Given the description of an element on the screen output the (x, y) to click on. 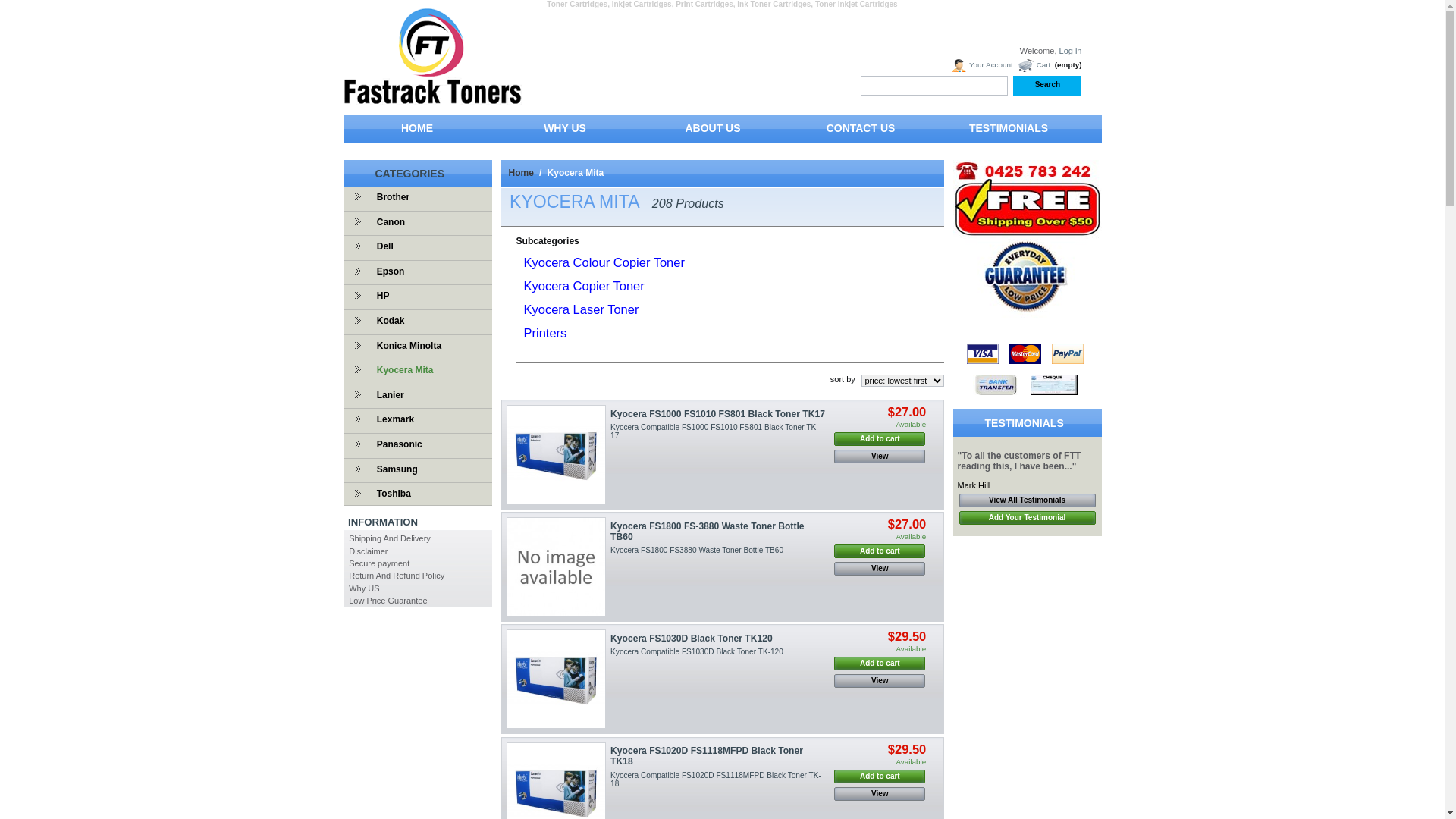
Kyocera Mita Element type: text (401, 369)
Add Your Testimonial Element type: text (1026, 517)
Kyocera FS1800 FS-3880 Waste Toner Bottle TB60 Element type: text (706, 531)
Add to cart Element type: text (879, 776)
View Element type: text (879, 456)
Search Element type: text (1047, 85)
Kyocera FS1800 FS-3880 Waste Toner Bottle TB60 Element type: hover (555, 566)
Why US Element type: text (363, 588)
Konica Minolta Element type: text (405, 345)
Epson Element type: text (386, 271)
TESTIMONIALS Element type: text (1008, 131)
Canon Element type: text (386, 221)
Add to cart Element type: text (879, 551)
Kyocera FS1000 FS1010 FS801 Black Toner TK17 Element type: text (717, 413)
Samsung Element type: text (393, 469)
Kyocera Laser Toner Element type: text (580, 309)
WHY US Element type: text (565, 131)
Toshiba Element type: text (390, 493)
Kyocera FS1800 FS3880 Waste Toner Bottle TB60 Element type: text (696, 550)
Low Price Guarantee Element type: text (387, 600)
Lexmark Element type: text (391, 419)
Home Element type: text (520, 172)
Kodak Element type: text (386, 320)
Kyocera Compatible FS1020D FS1118MFPD Black Toner TK-18 Element type: text (715, 778)
View Element type: text (879, 793)
View Element type: text (879, 568)
Cart: Element type: text (1034, 65)
Kyocera FS1030D Black Toner TK120 Element type: text (691, 638)
Printers Element type: text (544, 332)
Kyocera Copier Toner Element type: text (583, 285)
Dell Element type: text (381, 246)
Disclaimer Element type: text (367, 550)
Ink Toner Inkjet Cartridges - Fastracktoners.com.au Element type: hover (431, 99)
CONTACT US Element type: text (861, 131)
Shipping And Delivery Element type: text (389, 537)
Add to cart Element type: text (879, 663)
Kyocera Compatible FS1000 FS1010 FS801 Black Toner TK-17 Element type: text (714, 431)
Kyocera Colour Copier Toner Element type: text (603, 262)
Your Account Element type: text (981, 65)
HP Element type: text (379, 295)
Kyocera FS1030D Black Toner TK120 Element type: hover (555, 678)
View Element type: text (879, 680)
Kyocera FS1020D FS1118MFPD Black Toner TK18 Element type: text (706, 755)
"To all the customers of FTT reading this, I have been..." Element type: text (1018, 460)
Log in Element type: text (1070, 50)
ABOUT US Element type: text (712, 131)
Lanier Element type: text (386, 394)
Kyocera FS1000 FS1010 FS801 Black Toner TK17 Element type: hover (555, 454)
Add to cart Element type: text (879, 438)
Return And Refund Policy Element type: text (396, 575)
HOME Element type: text (416, 131)
Secure payment Element type: text (378, 562)
Panasonic Element type: text (395, 444)
Kyocera Compatible FS1030D Black Toner TK-120 Element type: text (696, 651)
Brother Element type: text (389, 196)
View All Testimonials Element type: text (1026, 500)
